Given the description of an element on the screen output the (x, y) to click on. 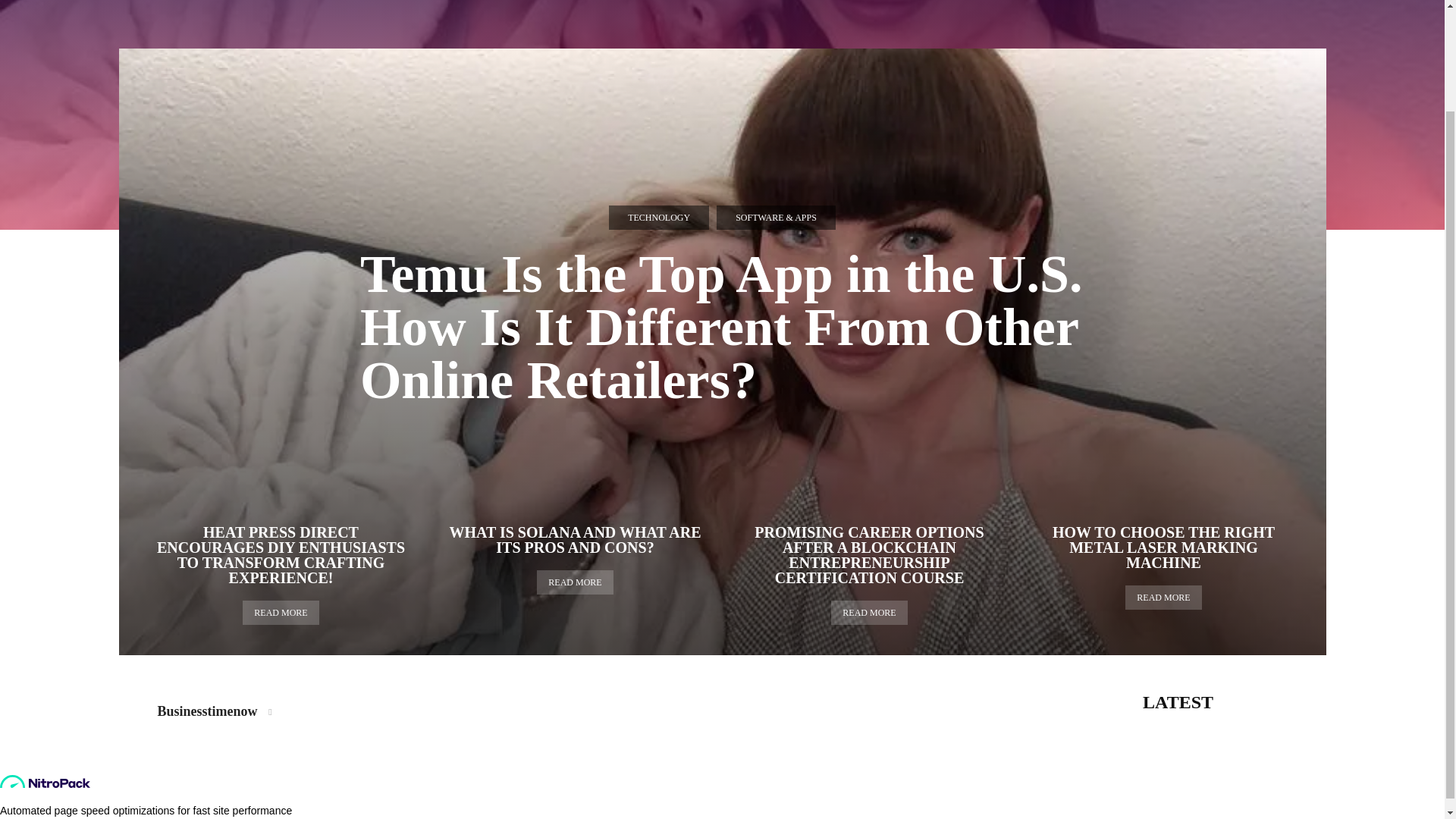
TECHNOLOGY (658, 217)
